Given the description of an element on the screen output the (x, y) to click on. 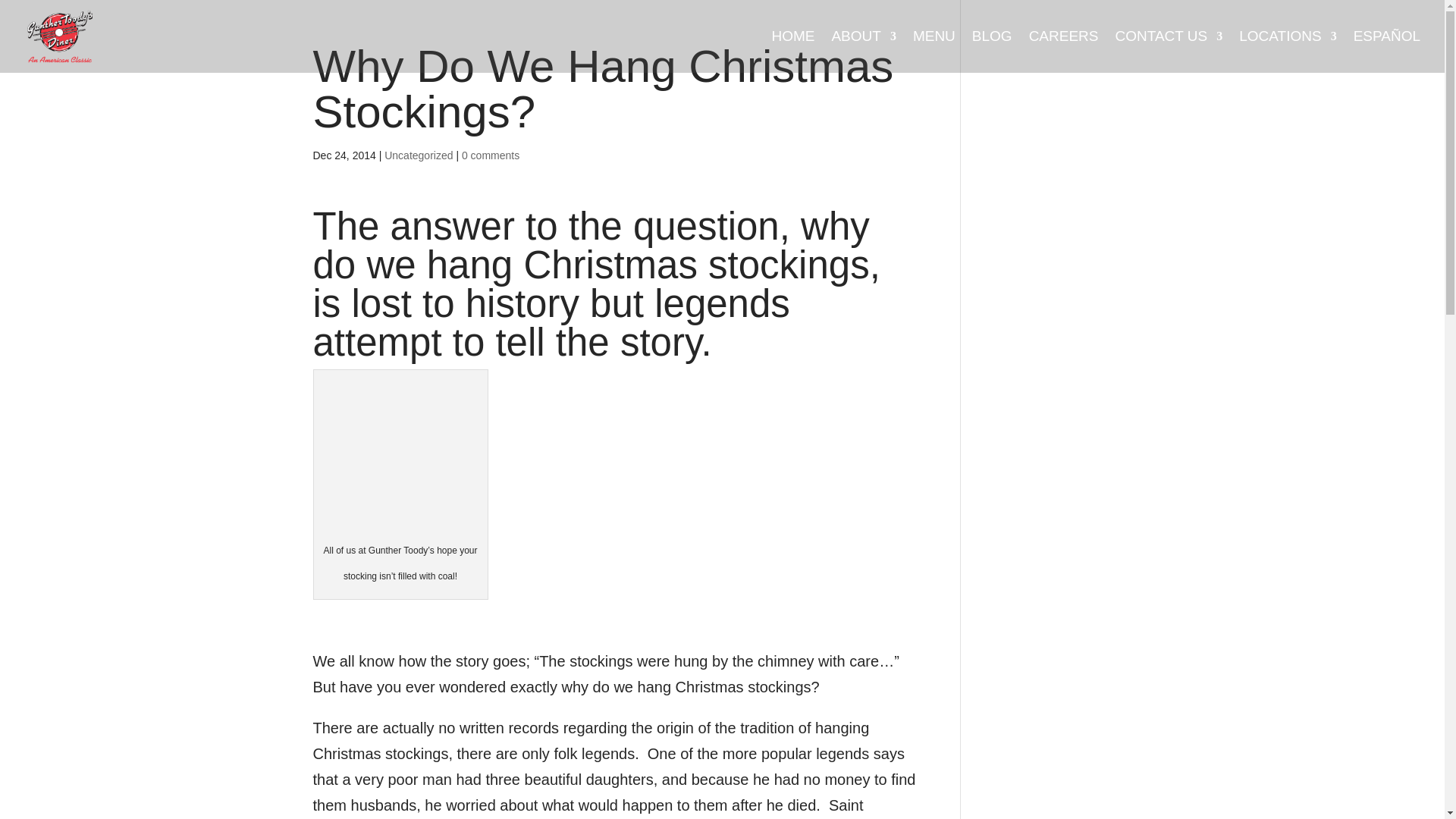
ABOUT (863, 51)
CONTACT US (1169, 51)
MENU (933, 51)
HOME (792, 51)
Uncategorized (418, 155)
0 comments (490, 155)
CAREERS (1064, 51)
LOCATIONS (1287, 51)
BLOG (991, 51)
